Given the description of an element on the screen output the (x, y) to click on. 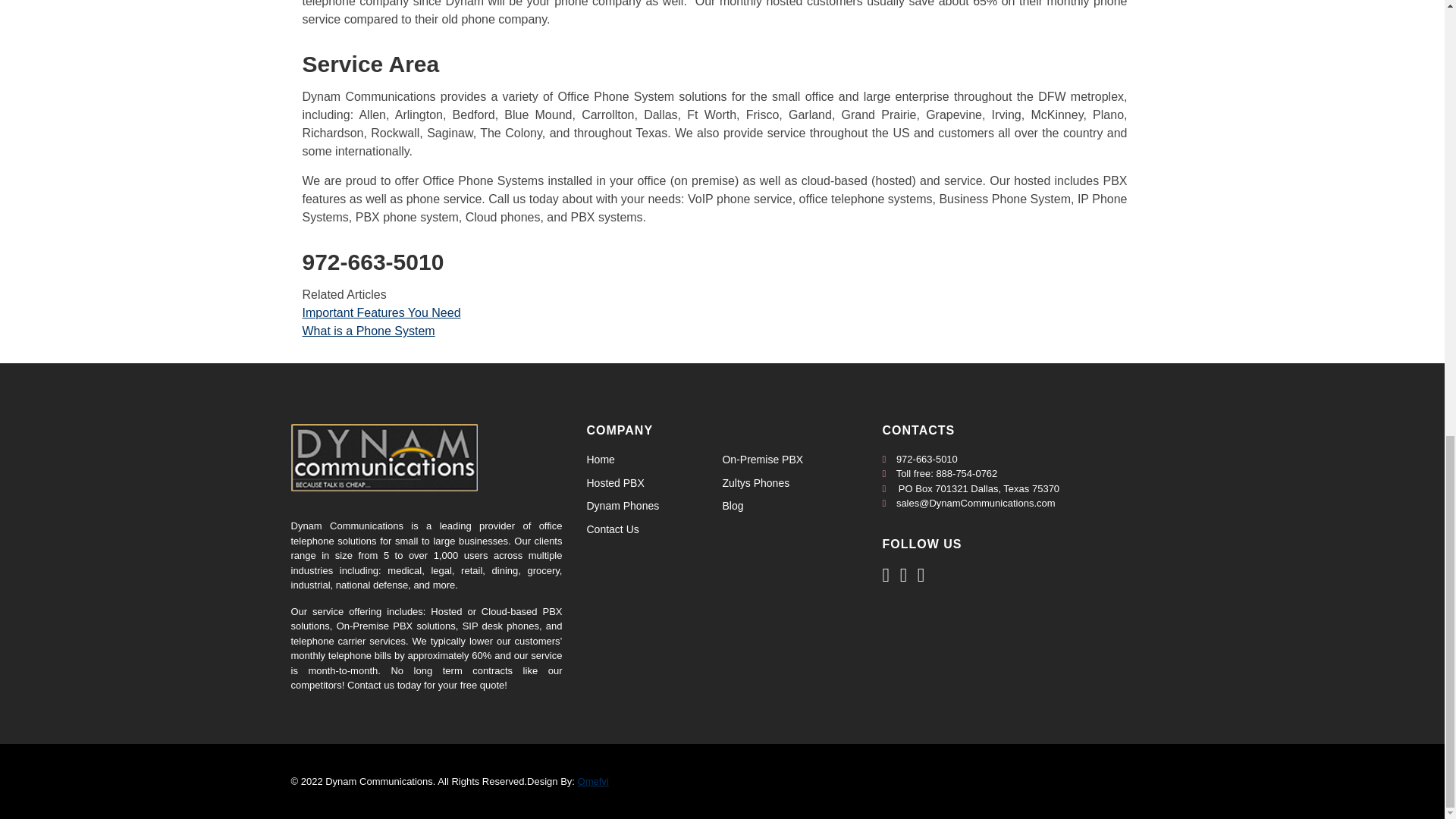
What is a Phone System (367, 330)
Home (600, 459)
Important Features You Need (380, 312)
On-Premise PBX (762, 459)
Dynam Phones (622, 505)
Contact Us (612, 529)
Zultys Phones (755, 482)
Blog (732, 505)
888-754-0762 (966, 473)
972-663-5010 (927, 459)
Hosted PBX (615, 482)
